Given the description of an element on the screen output the (x, y) to click on. 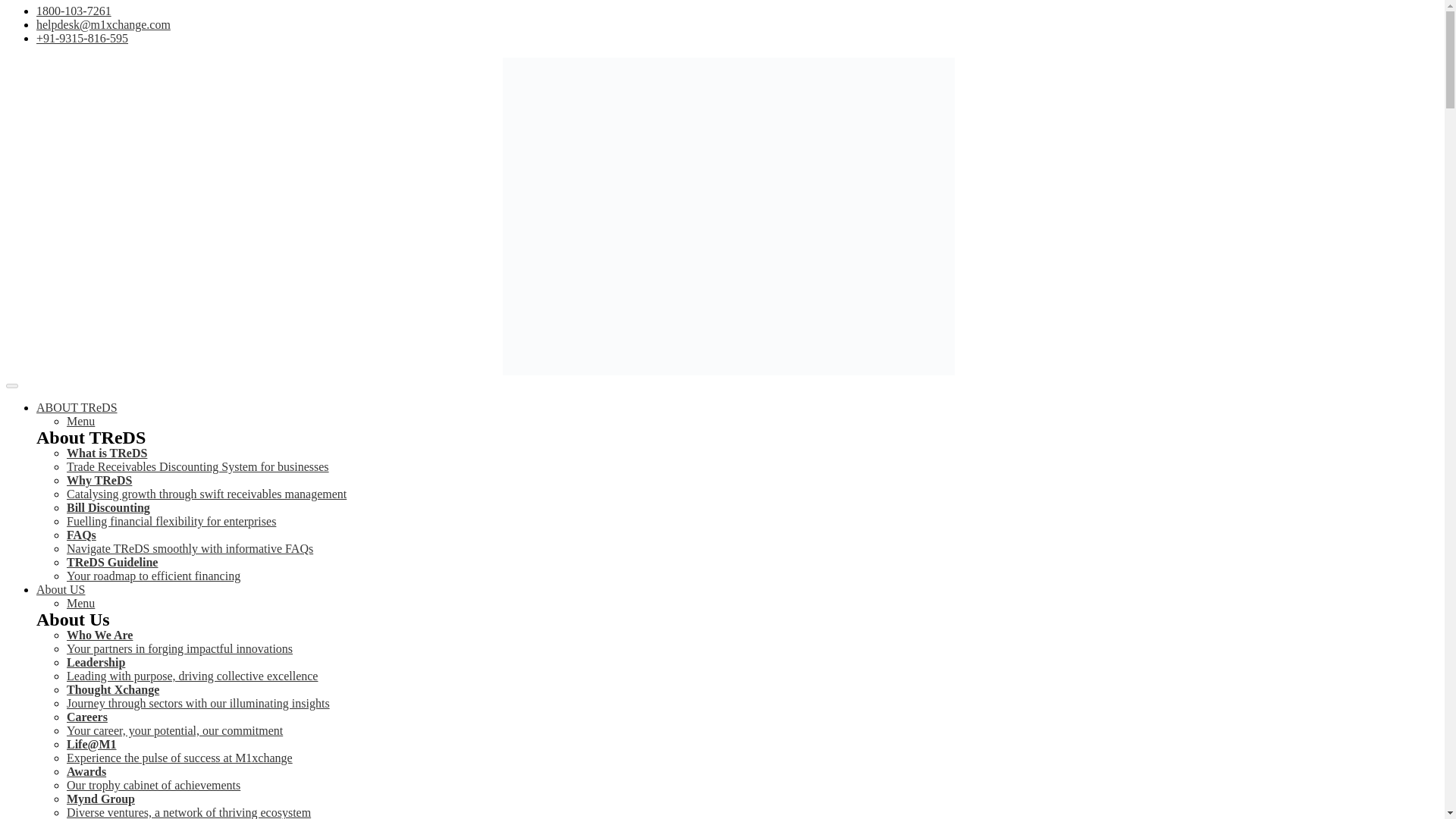
Who We Are (99, 634)
Menu (80, 603)
Your career, your potential, our commitment (174, 730)
Journey through sectors with our illuminating insights (198, 703)
Navigate TReDS smoothly with informative FAQs (189, 548)
What is TReDS (106, 452)
Leadership (95, 662)
Awards (86, 771)
FAQs (81, 534)
1800-103-7261 (74, 10)
